Given the description of an element on the screen output the (x, y) to click on. 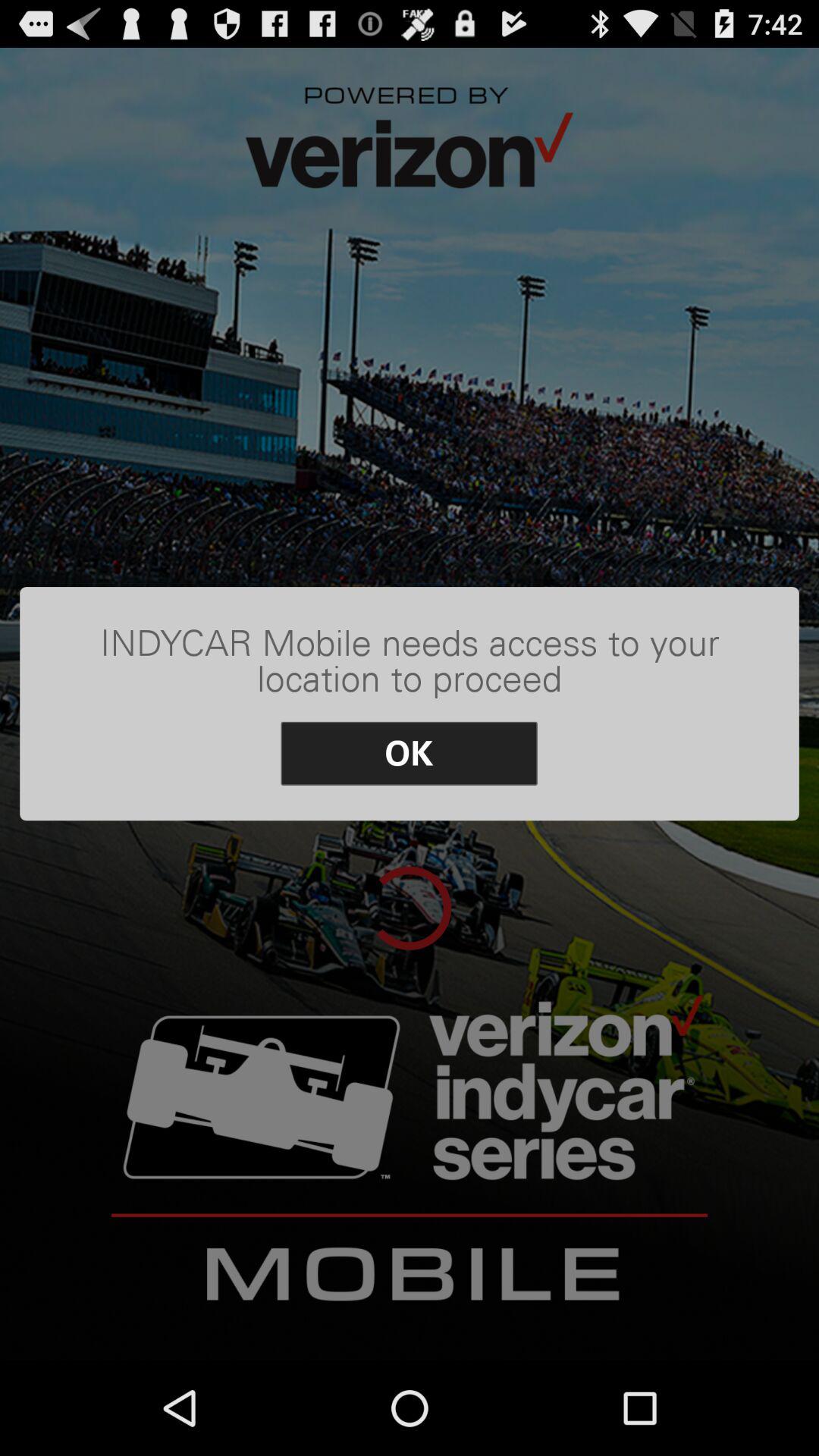
select the item below indycar mobile needs (408, 753)
